Given the description of an element on the screen output the (x, y) to click on. 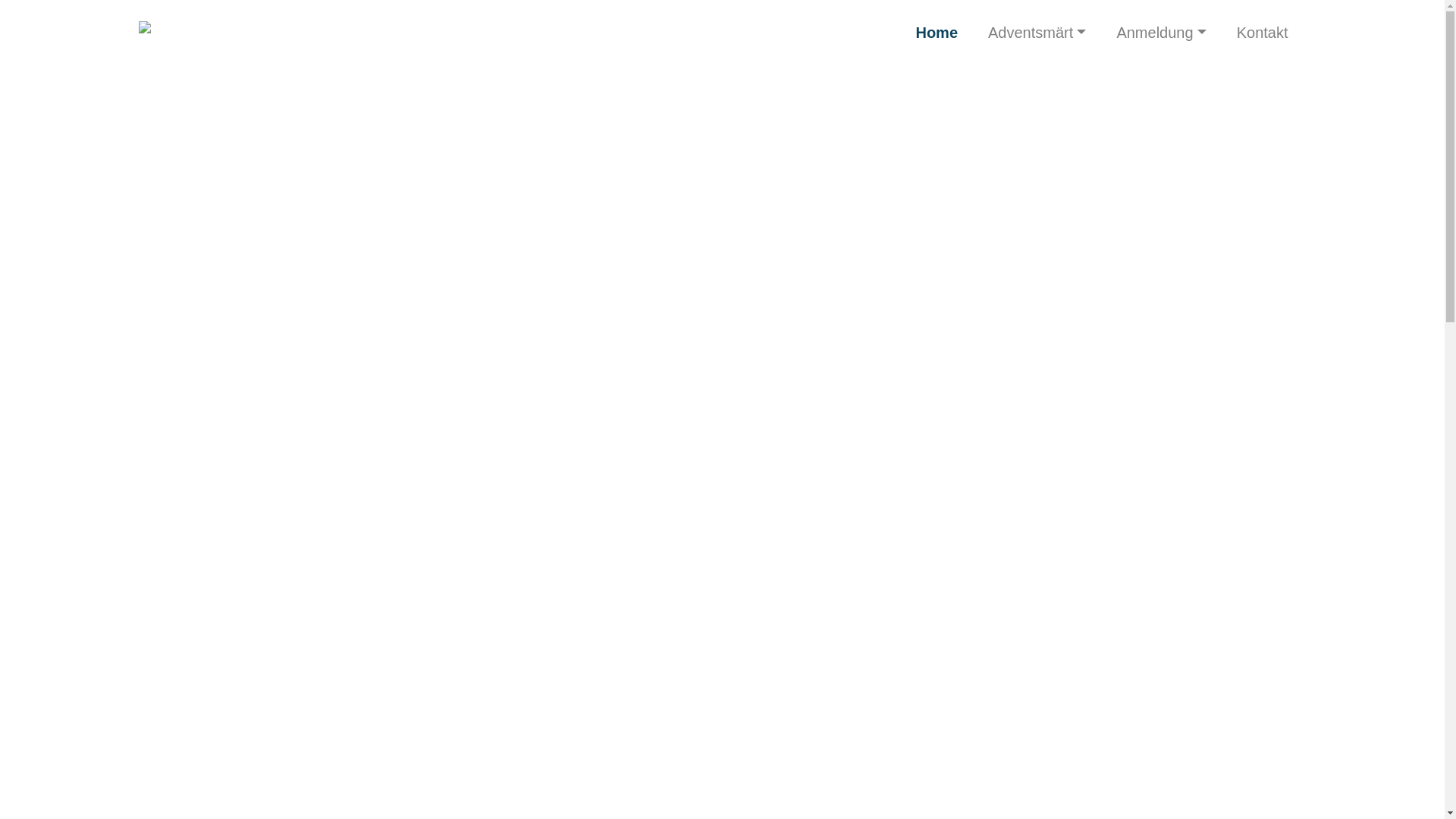
Kontakt Element type: text (1262, 32)
Anmeldung Element type: text (1160, 32)
Home Element type: text (936, 32)
